Given the description of an element on the screen output the (x, y) to click on. 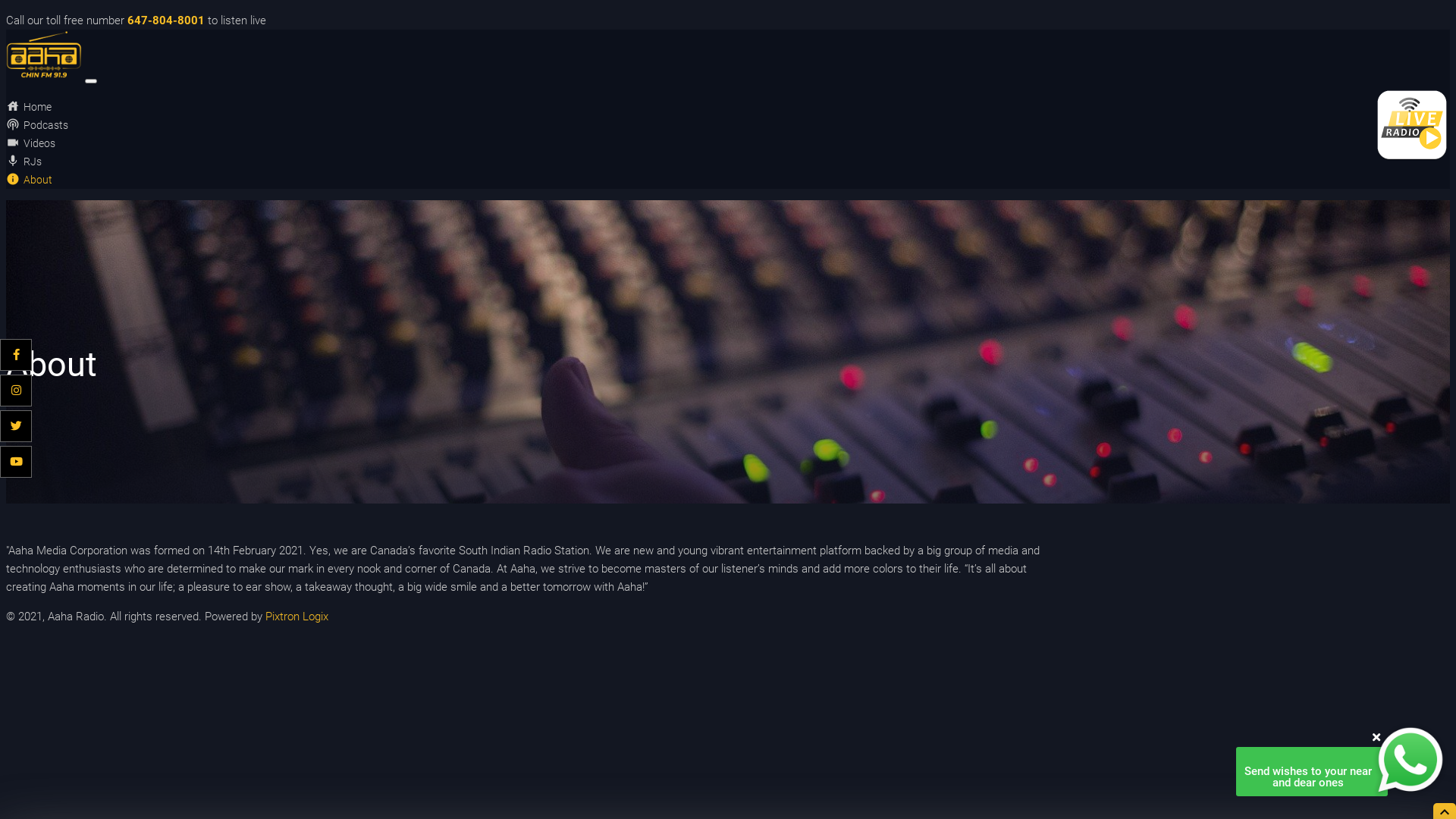
Pixtron Logix Element type: text (296, 616)
podcastsPodcasts Element type: text (37, 125)
videocamVideos Element type: text (30, 143)
houseHome Element type: text (28, 106)
infoAbout Element type: text (29, 179)
micRJs Element type: text (23, 161)
